Given the description of an element on the screen output the (x, y) to click on. 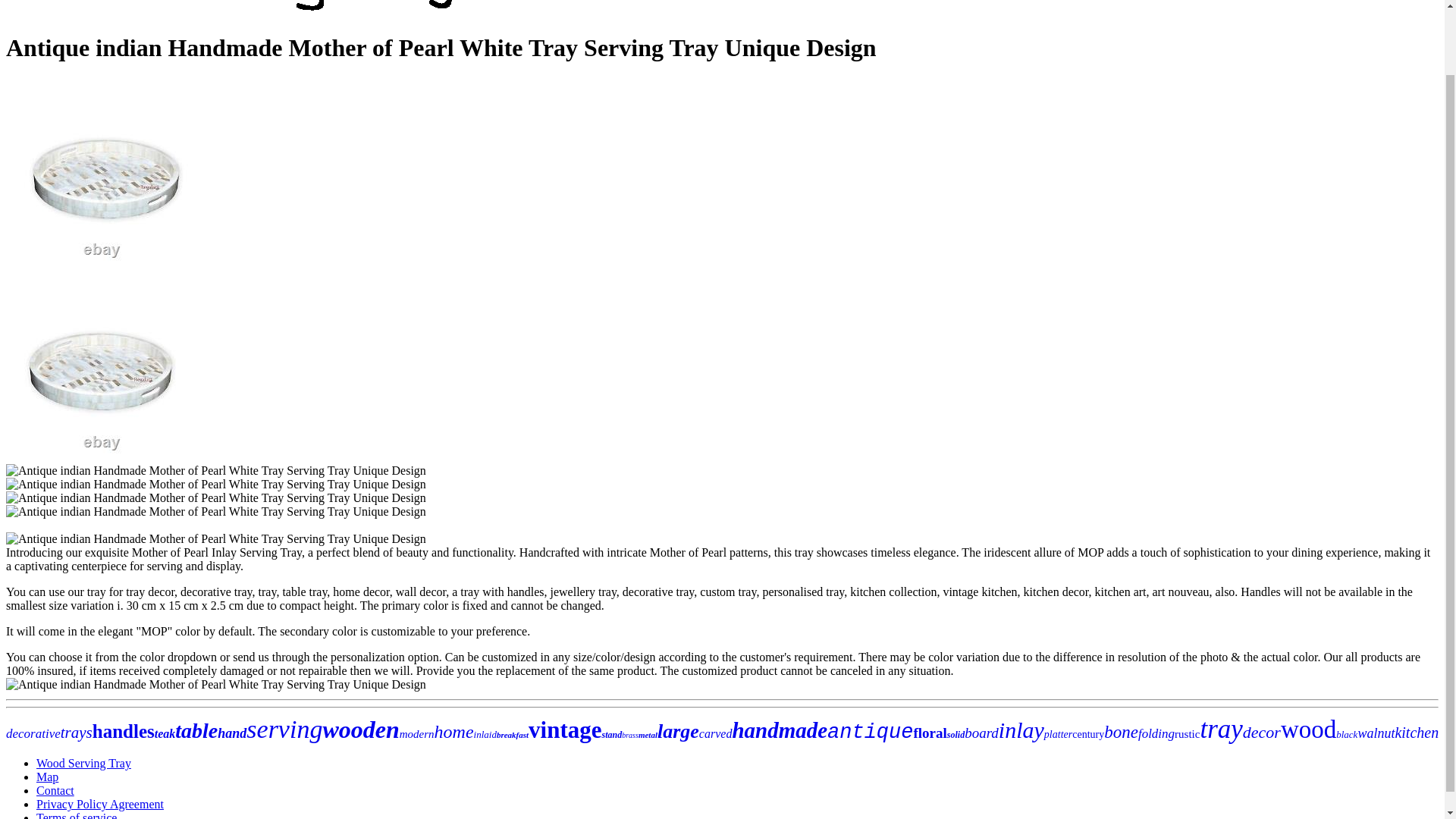
handmade (779, 730)
home (453, 731)
solid (955, 734)
teak (165, 733)
wooden (359, 728)
table (195, 730)
hand (231, 733)
antique (869, 732)
brass (630, 735)
floral (929, 732)
century (1087, 734)
folding (1156, 733)
metal (648, 734)
